Given the description of an element on the screen output the (x, y) to click on. 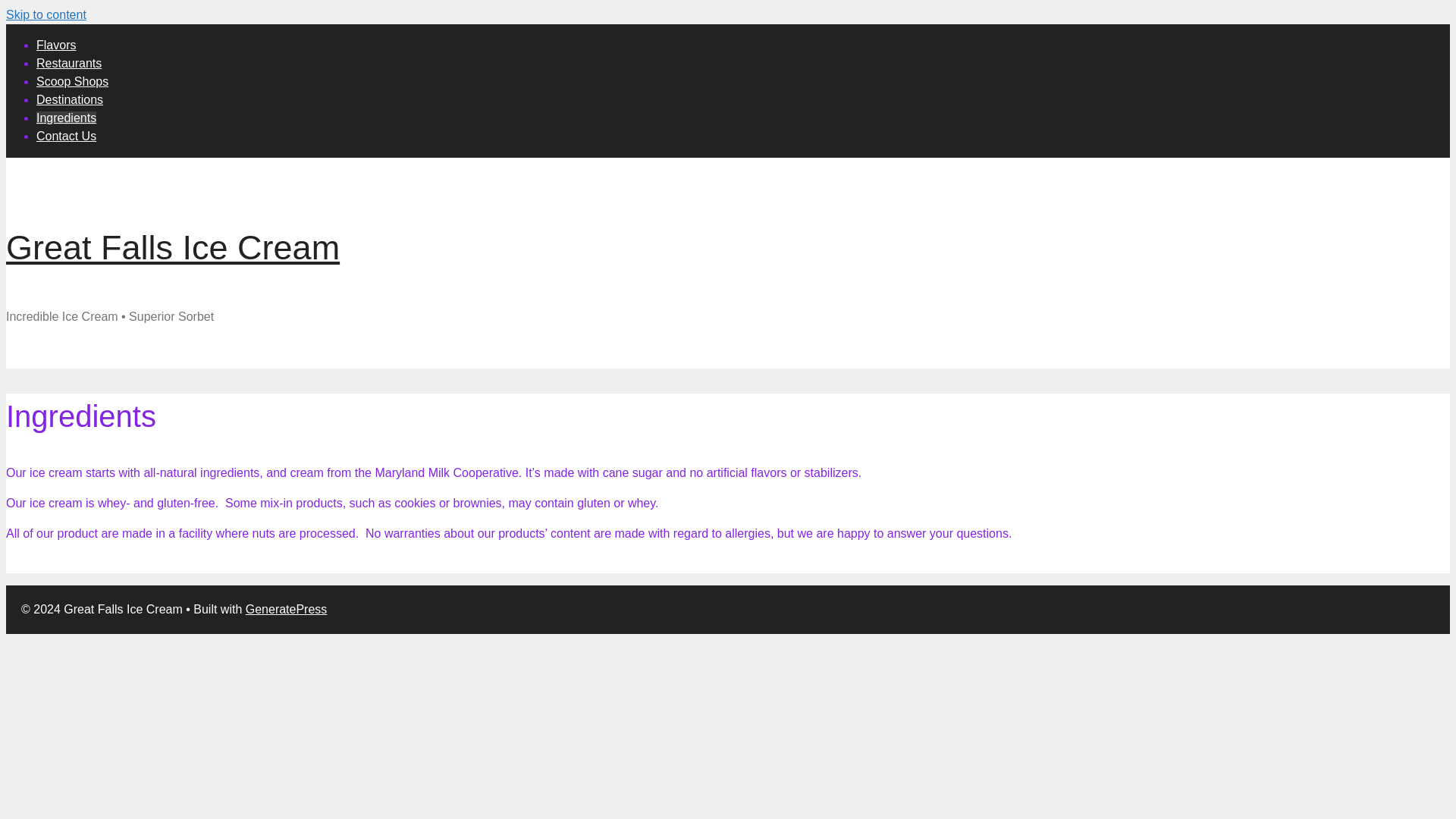
Ingredients (66, 117)
Skip to content (45, 14)
Great Falls Ice Cream (172, 247)
Skip to content (45, 14)
Restaurants (68, 62)
Flavors (55, 44)
Contact Us (66, 135)
GeneratePress (286, 608)
Scoop Shops (71, 81)
Destinations (69, 99)
